Given the description of an element on the screen output the (x, y) to click on. 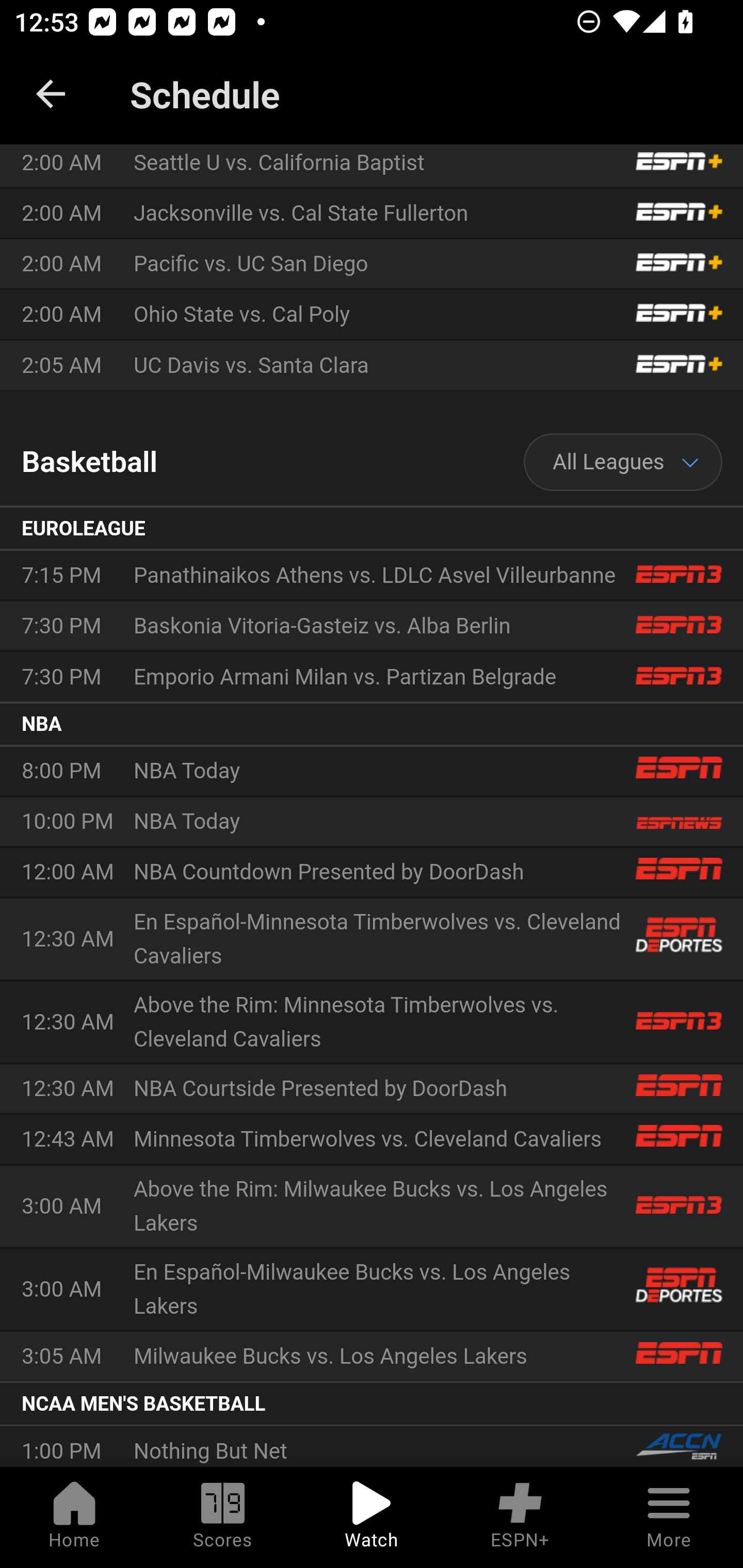
back.button (50, 93)
All Leagues (622, 462)
Home (74, 1517)
Scores (222, 1517)
ESPN+ (519, 1517)
More (668, 1517)
